Given the description of an element on the screen output the (x, y) to click on. 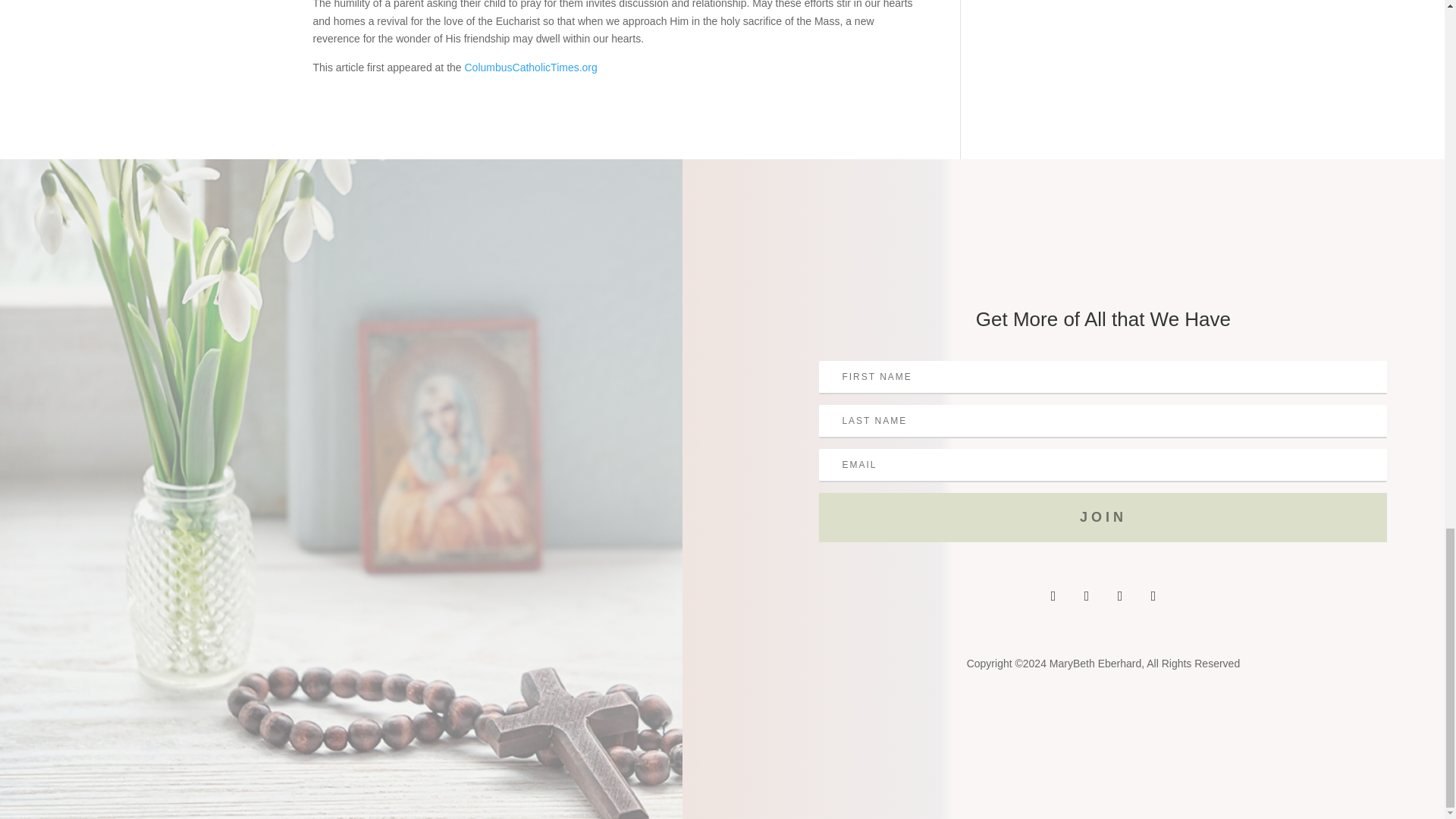
Follow on X (1086, 595)
Follow on Facebook (1053, 595)
JOIN (1102, 517)
Follow on Instagram (1120, 595)
Follow on Pinterest (1153, 595)
ColumbusCatholicTimes.org (530, 67)
